Given the description of an element on the screen output the (x, y) to click on. 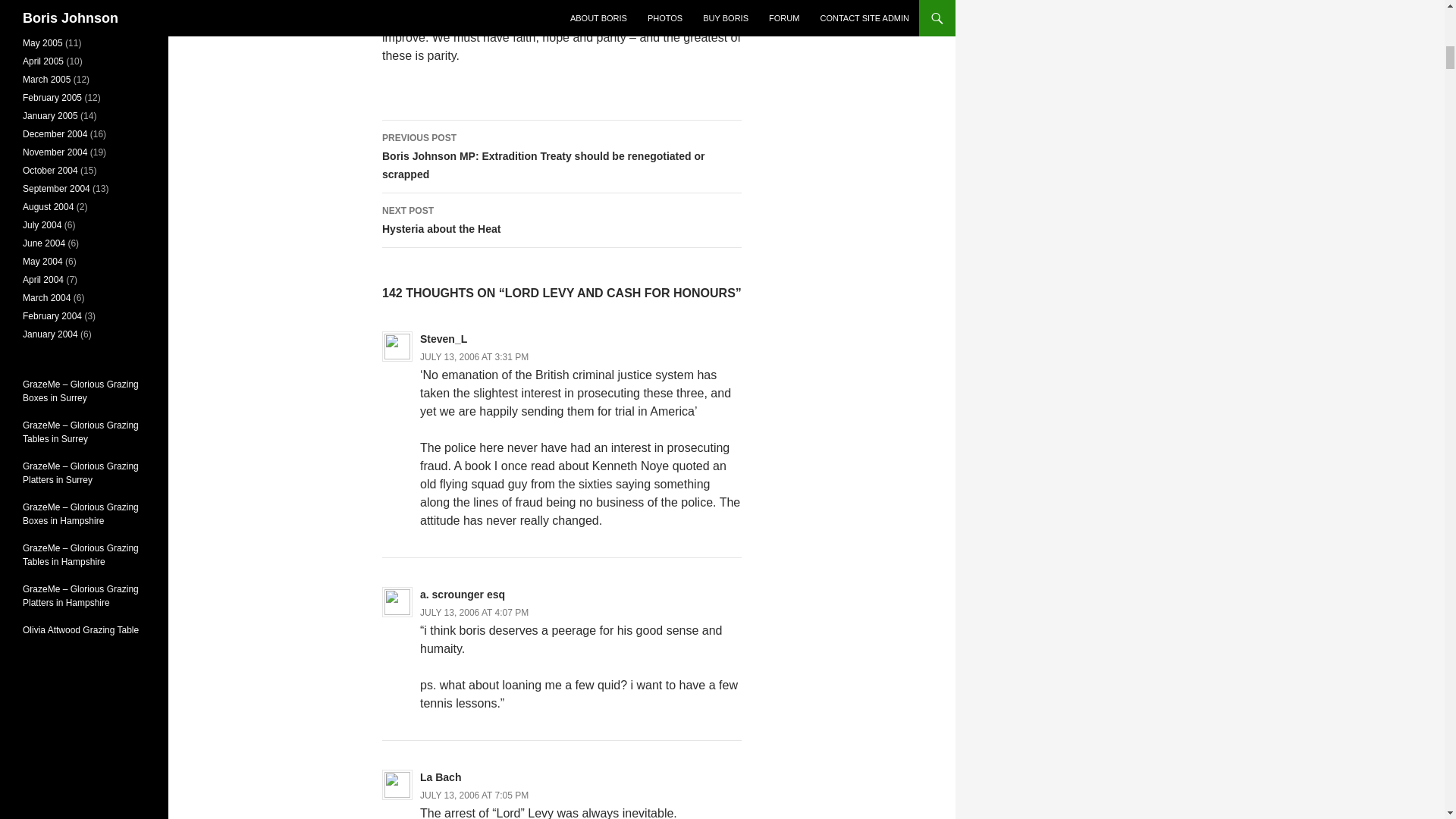
JULY 13, 2006 AT 3:31 PM (474, 357)
JULY 13, 2006 AT 4:07 PM (474, 612)
JULY 13, 2006 AT 7:05 PM (474, 795)
